Given the description of an element on the screen output the (x, y) to click on. 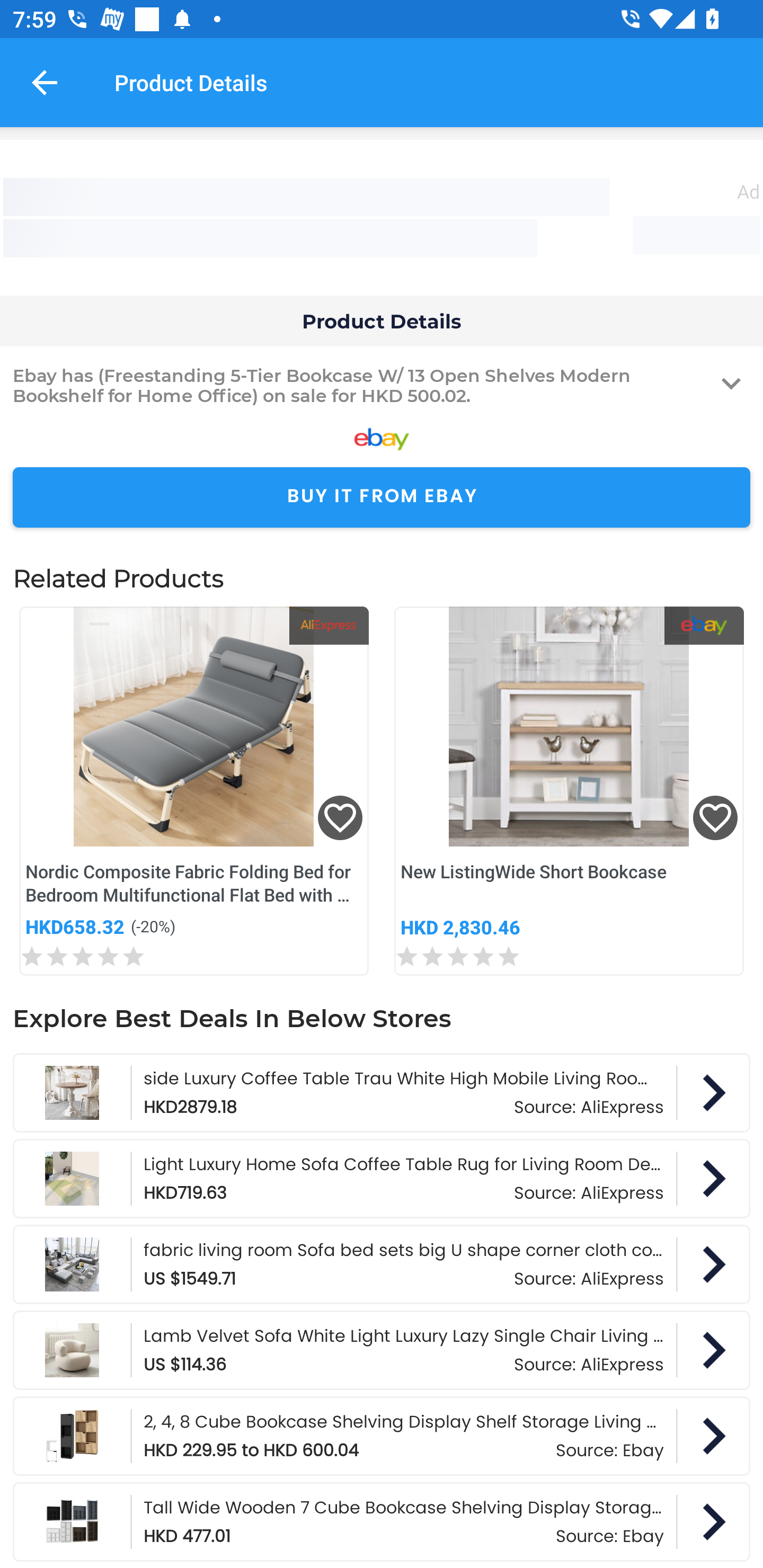
Navigate up (44, 82)
BUY IT FROM EBAY (381, 497)
New ListingWide Short Bookcase HKD 2,830.46 0.0 (568, 790)
